Given the description of an element on the screen output the (x, y) to click on. 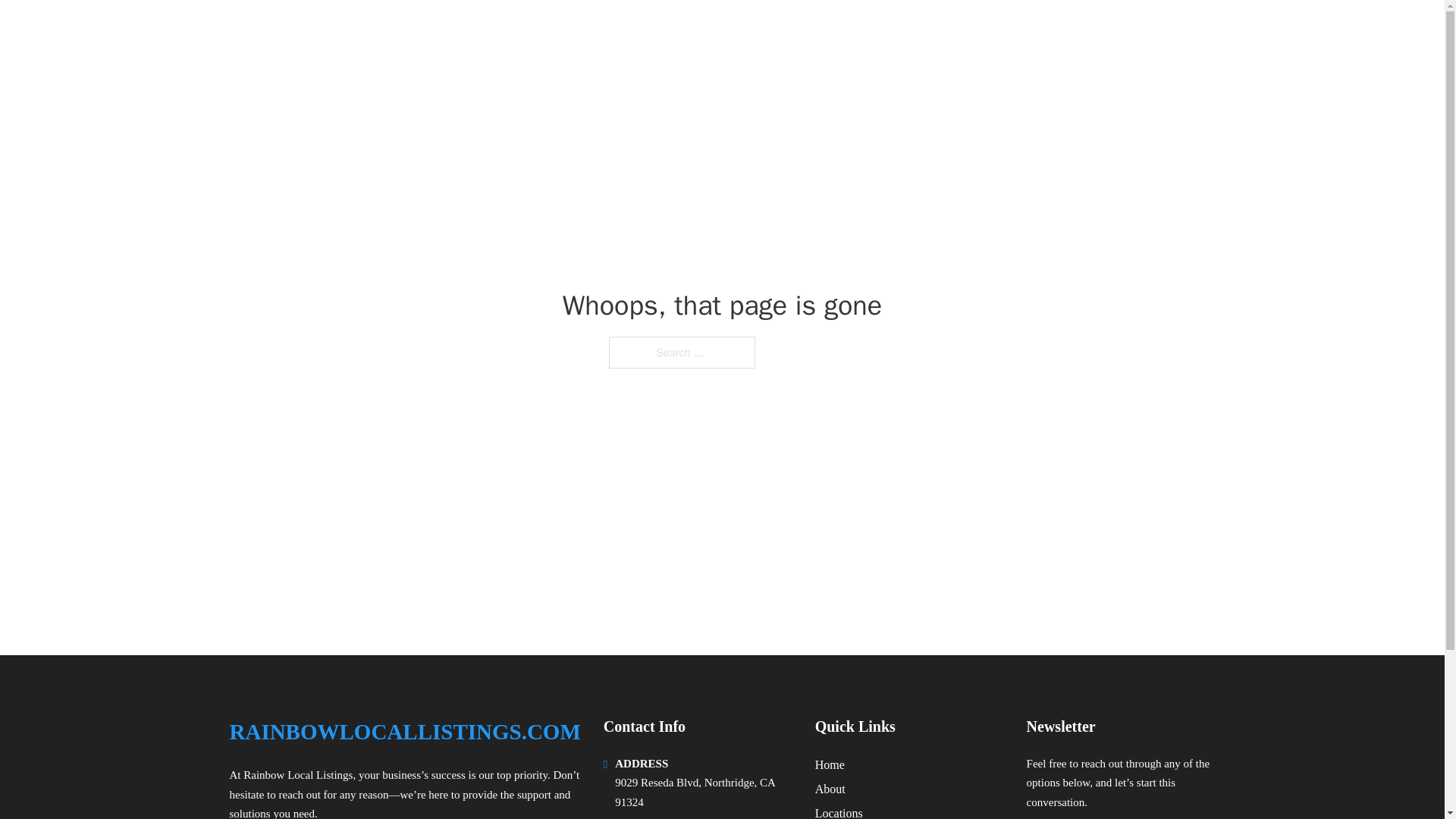
Locations (839, 811)
Home (829, 764)
RAINBOWLOCALLISTINGS.COM (403, 732)
LOCATIONS (1098, 31)
RAINBOWLOCALLISTINGS.COM (421, 31)
About (830, 788)
HOME (1025, 31)
